Given the description of an element on the screen output the (x, y) to click on. 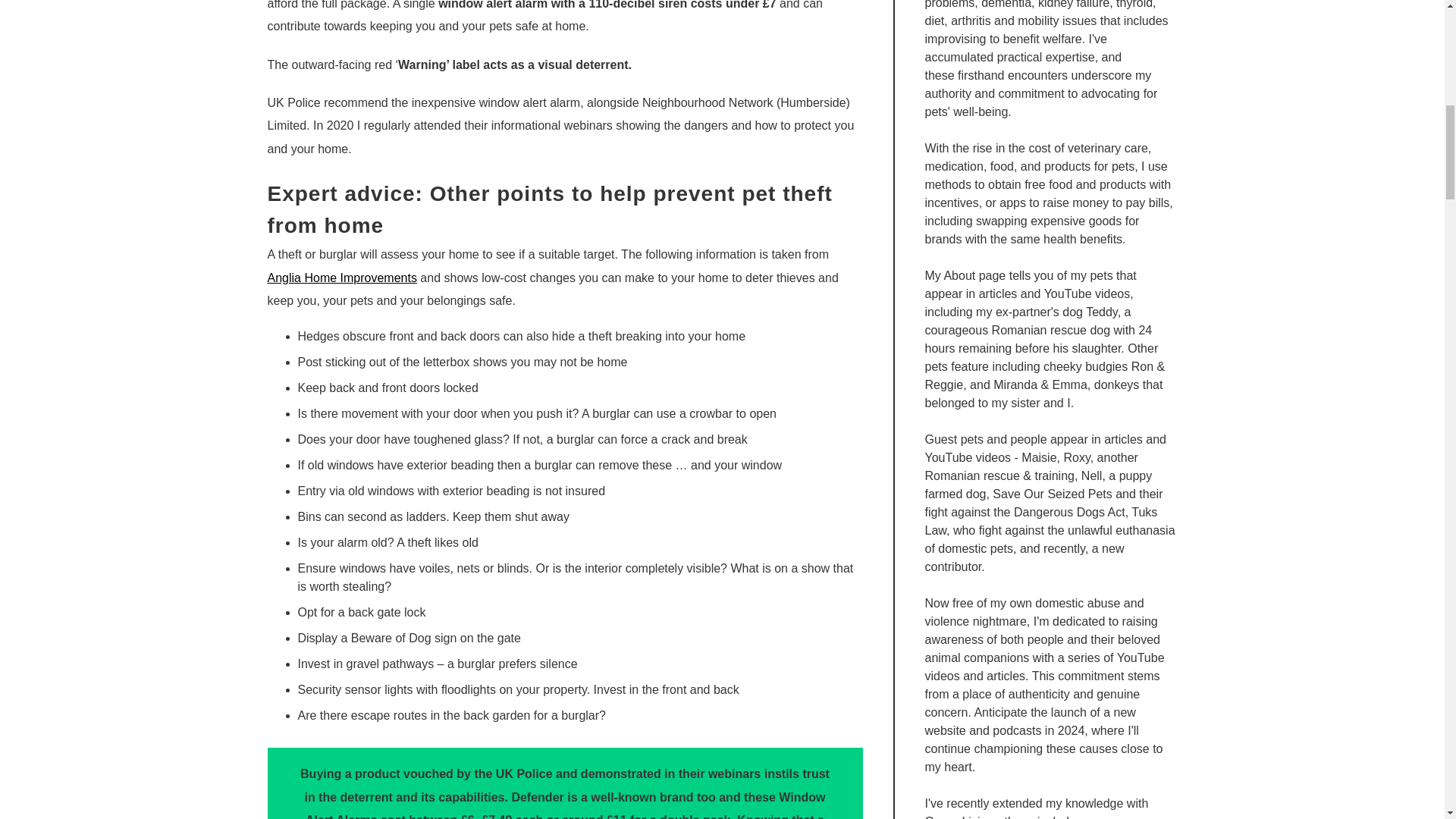
Anglia Home Improvements (341, 277)
